Given the description of an element on the screen output the (x, y) to click on. 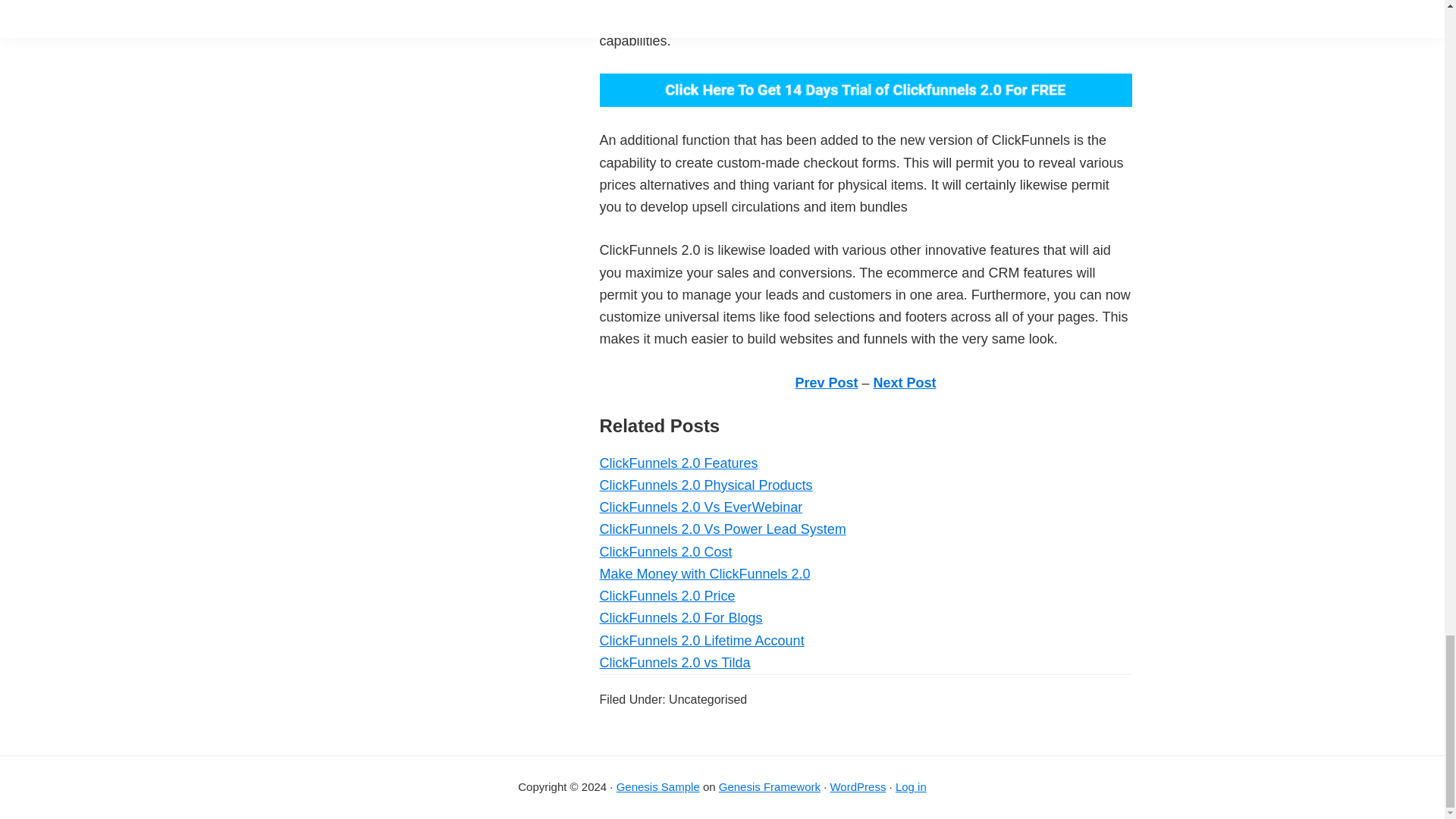
ClickFunnels 2.0 Vs EverWebinar (700, 507)
Genesis Framework (770, 786)
ClickFunnels 2.0 Cost (665, 551)
ClickFunnels 2.0 Physical Products (705, 485)
ClickFunnels 2.0 Vs Power Lead System (721, 529)
Make Money with ClickFunnels 2.0 (703, 573)
Log in (910, 786)
ClickFunnels 2.0 Price (666, 595)
ClickFunnels 2.0 vs Tilda (673, 662)
Prev Post (825, 382)
